Given the description of an element on the screen output the (x, y) to click on. 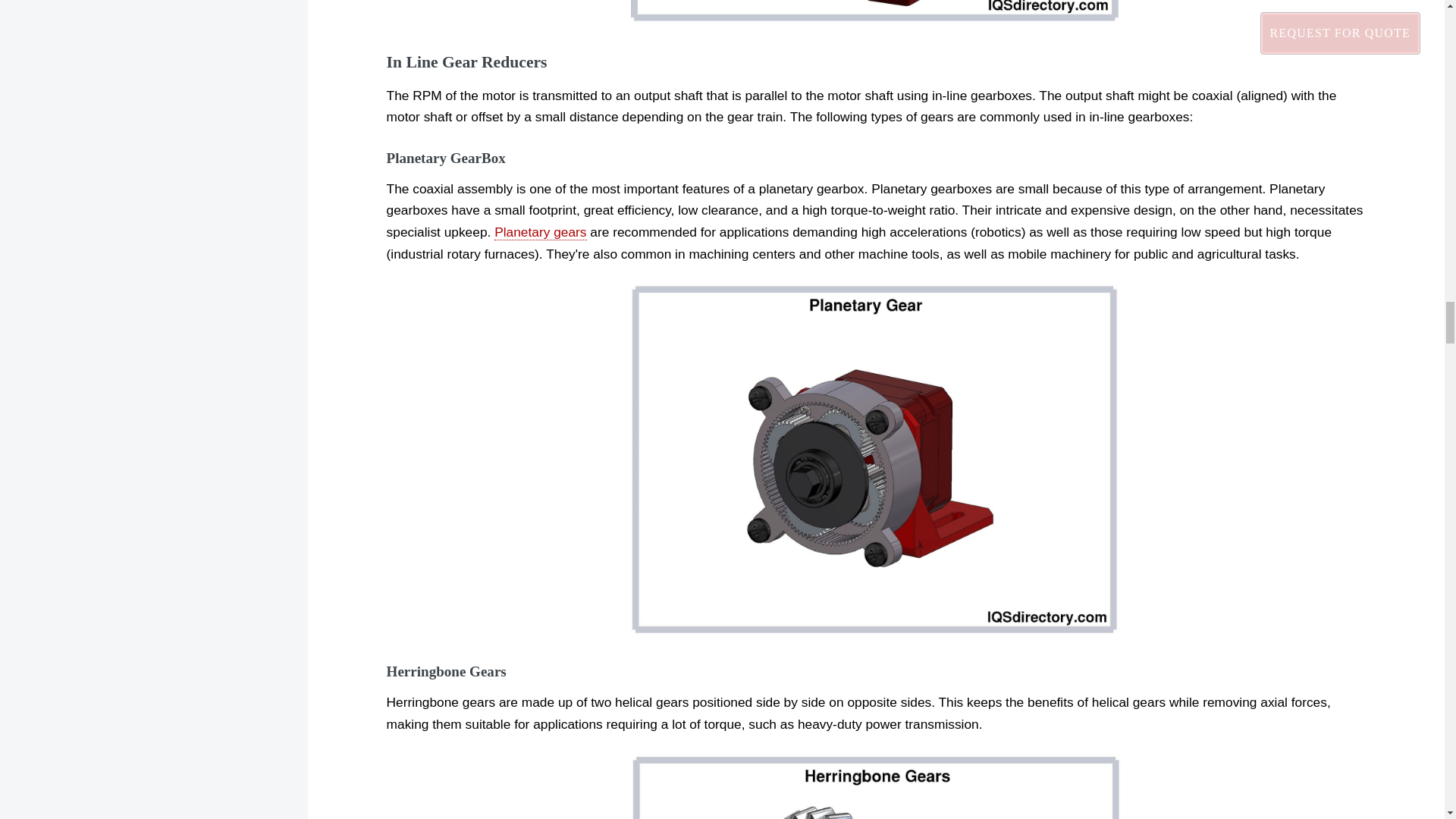
Gear Reducer (875, 11)
More information on Planetary Gears (540, 232)
Planetary gears (540, 232)
Herringbone Gears (875, 786)
